Given the description of an element on the screen output the (x, y) to click on. 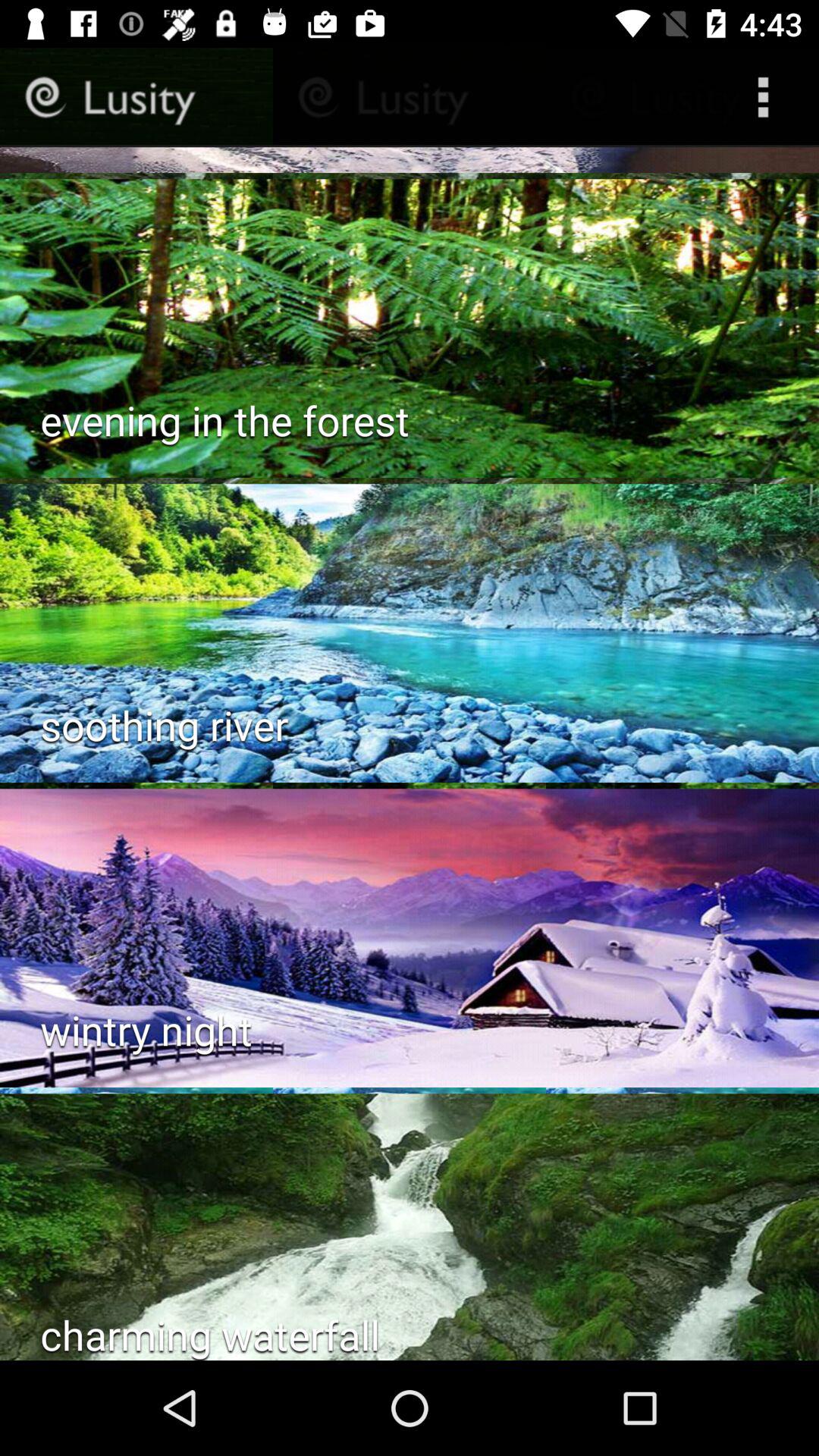
tap the icon at the top right corner (767, 97)
